Given the description of an element on the screen output the (x, y) to click on. 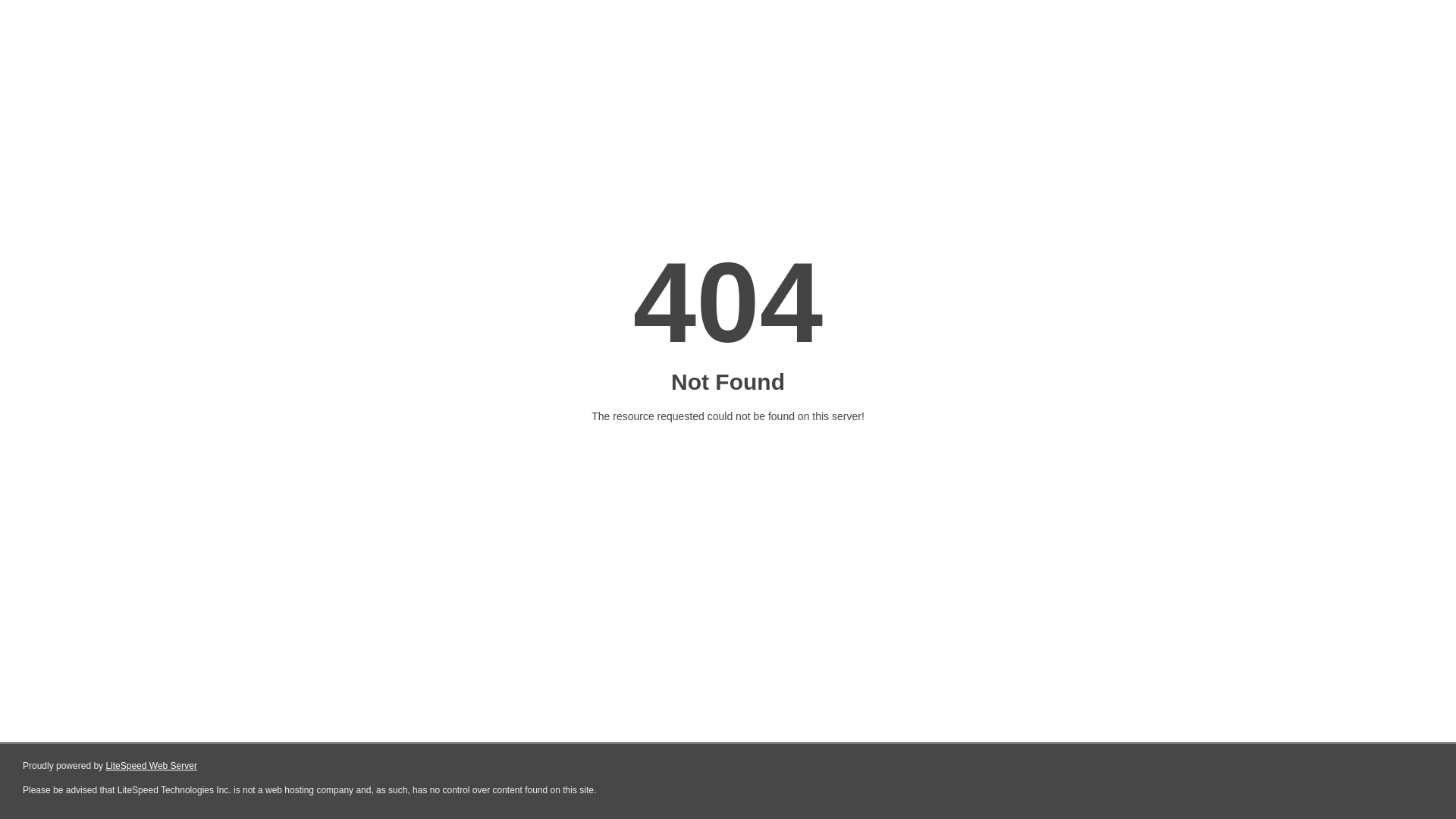
LiteSpeed Web Server Element type: text (151, 765)
